Given the description of an element on the screen output the (x, y) to click on. 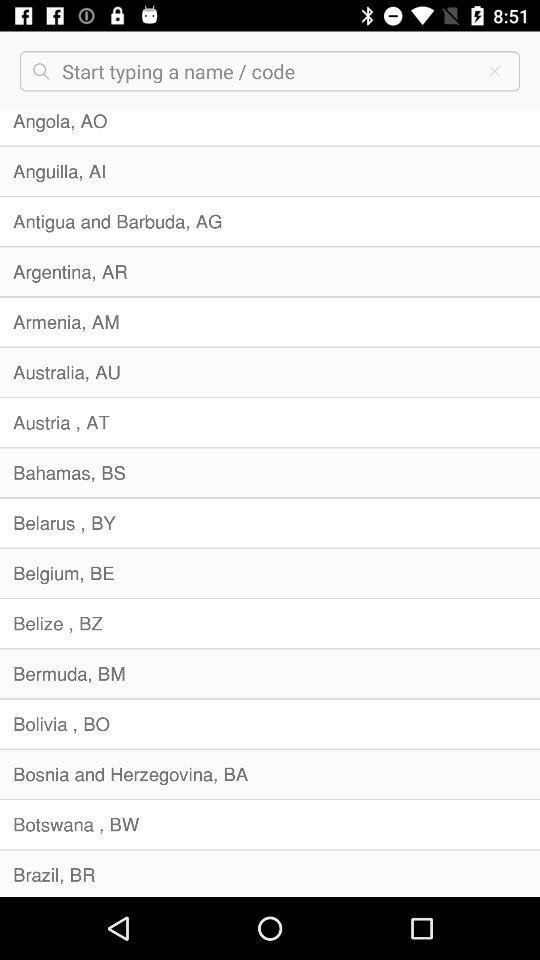
tap item above belarus , by icon (270, 472)
